Given the description of an element on the screen output the (x, y) to click on. 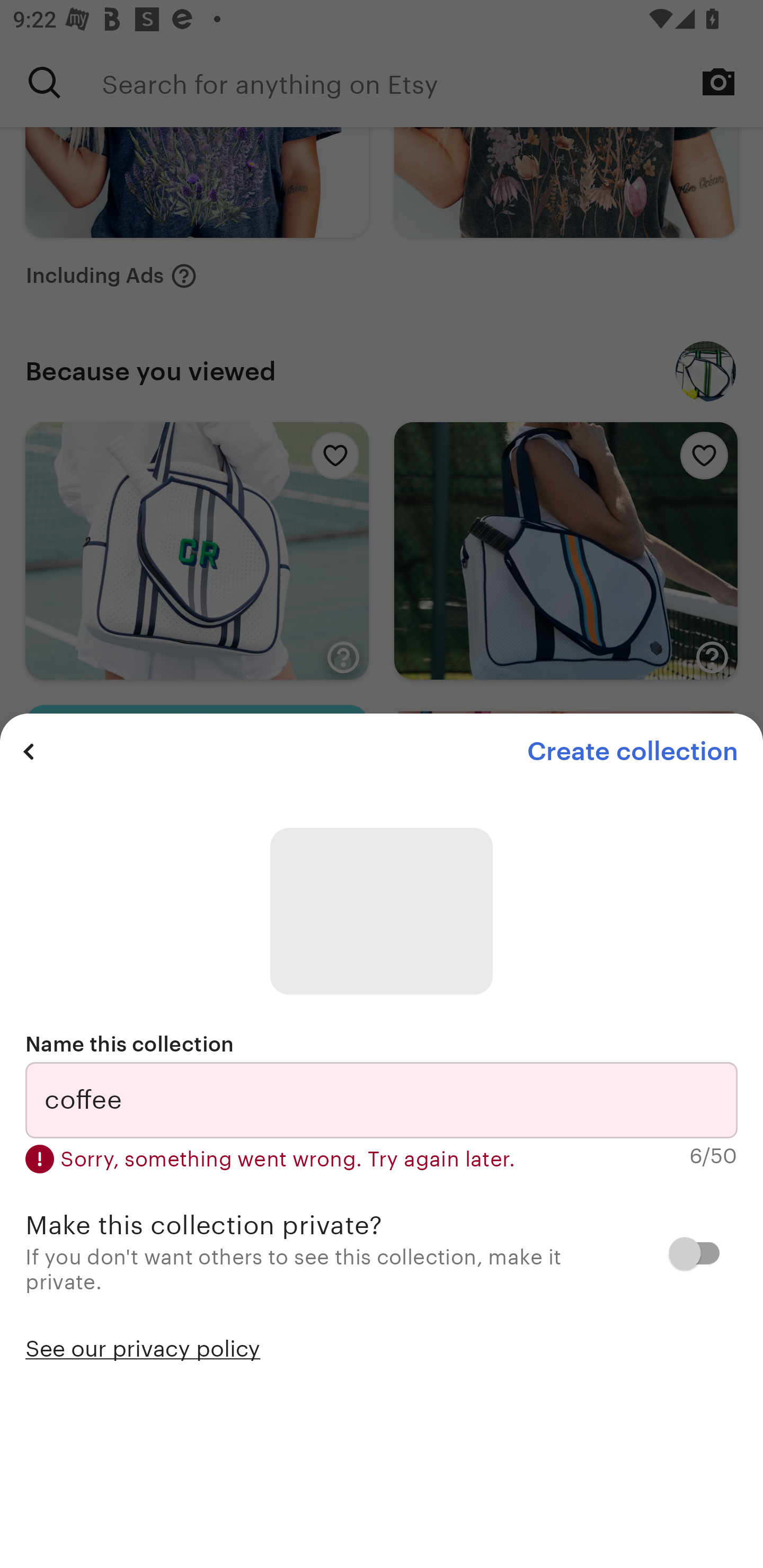
Previous (28, 751)
Create collection (632, 751)
coffee (381, 1099)
See our privacy policy (142, 1346)
